Given the description of an element on the screen output the (x, y) to click on. 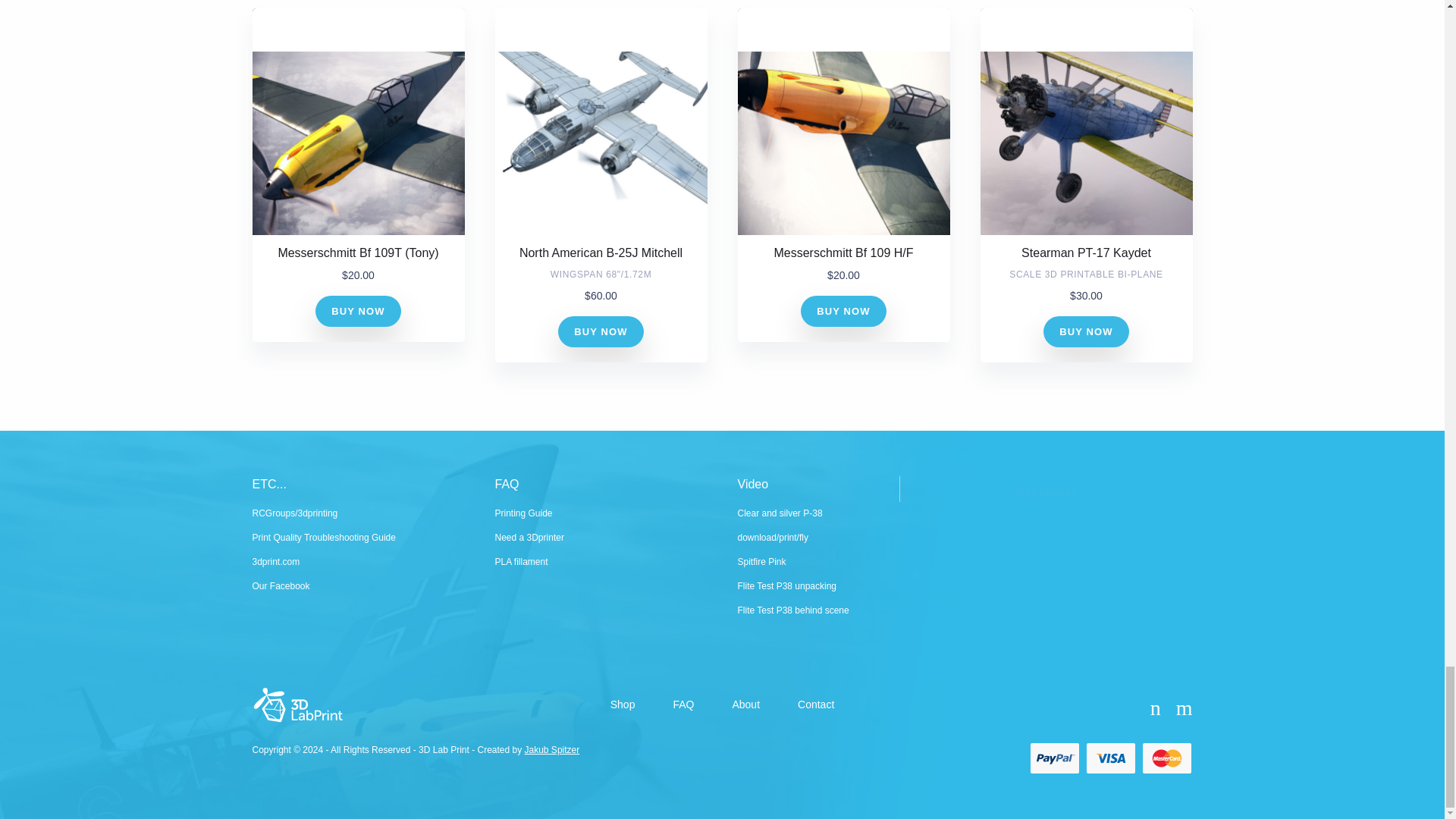
3DLabPrint (296, 705)
